Given the description of an element on the screen output the (x, y) to click on. 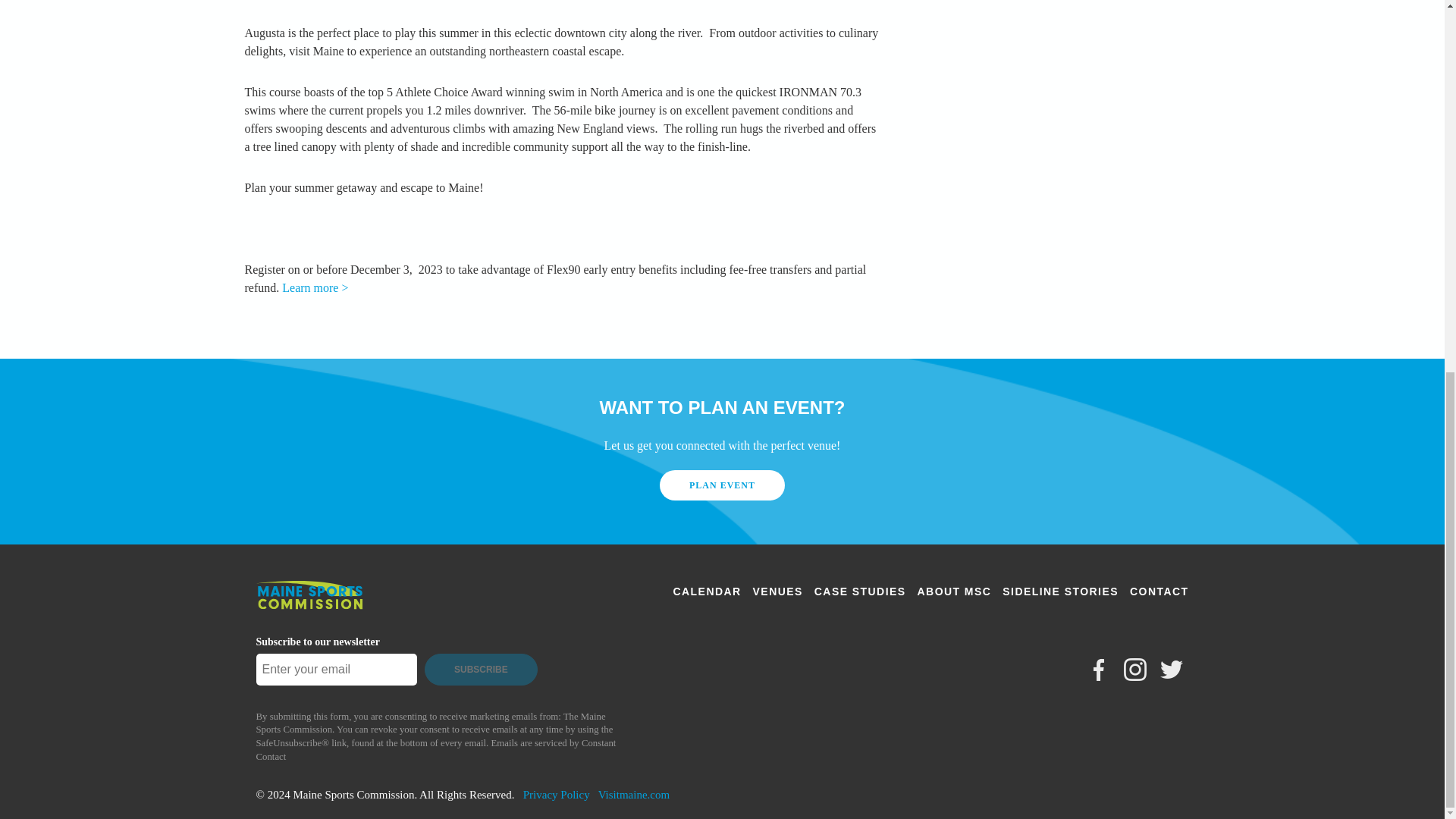
CONTACT (1158, 591)
Subscribe (481, 669)
SIDELINE STORIES (1060, 591)
VENUES (777, 591)
ABOUT MSC (954, 591)
Follow Maine Sports Commission on Instagram (1135, 669)
Privacy Policy (555, 794)
Subscribe (481, 669)
CASE STUDIES (859, 591)
Follow Maine Sports Commission on Facebook (1098, 669)
Maine Sports Commission (309, 606)
PLAN EVENT (721, 485)
Follow Maine Sports Commission on Twitter (1171, 669)
Emails are serviced by Constant Contact (435, 749)
Visitmaine.com (633, 794)
